Given the description of an element on the screen output the (x, y) to click on. 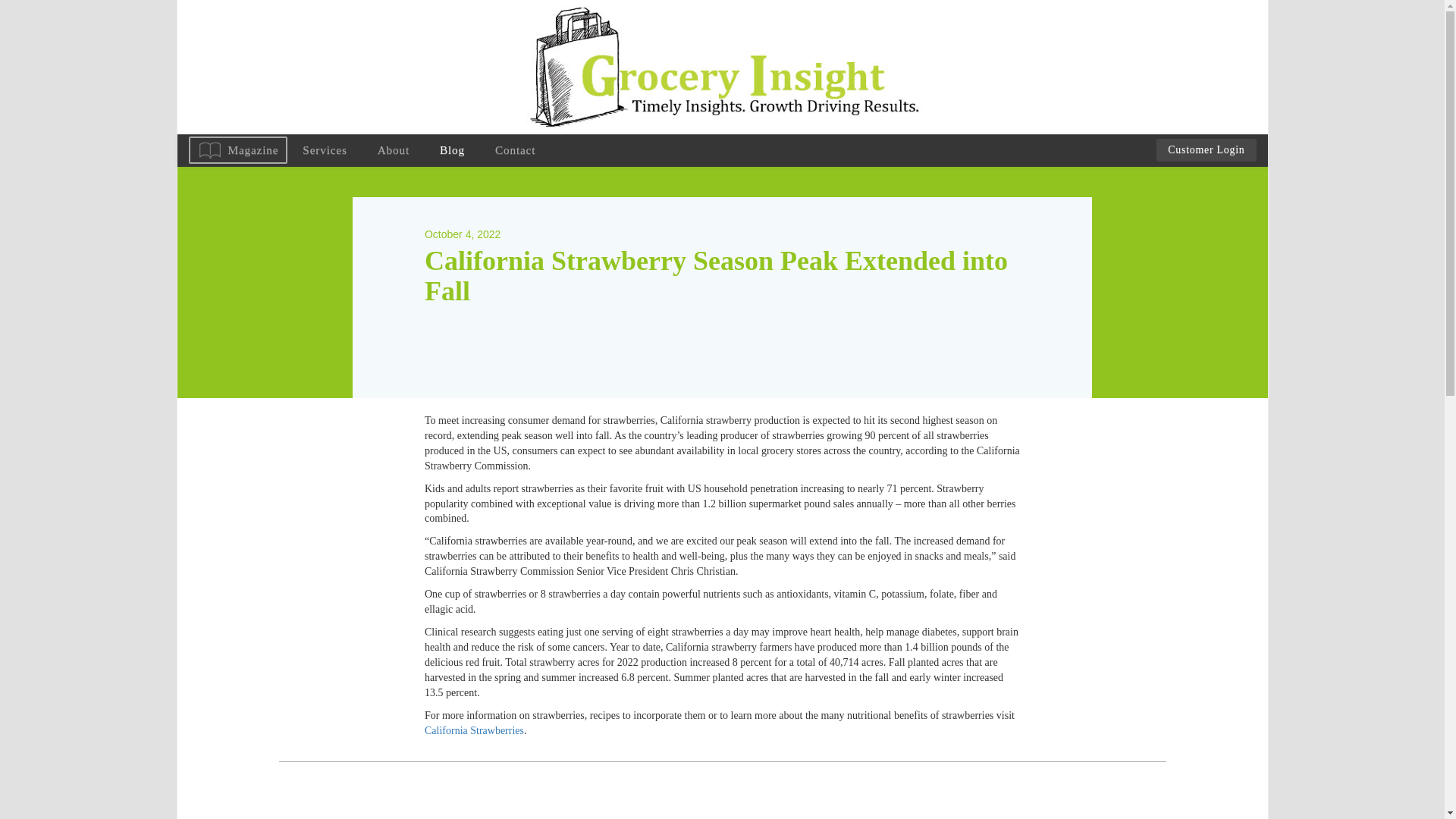
About (393, 149)
Magazine (237, 150)
Blog (452, 149)
California Strawberries (474, 730)
Contact (515, 149)
Services (323, 149)
Customer Login (1205, 149)
